Given the description of an element on the screen output the (x, y) to click on. 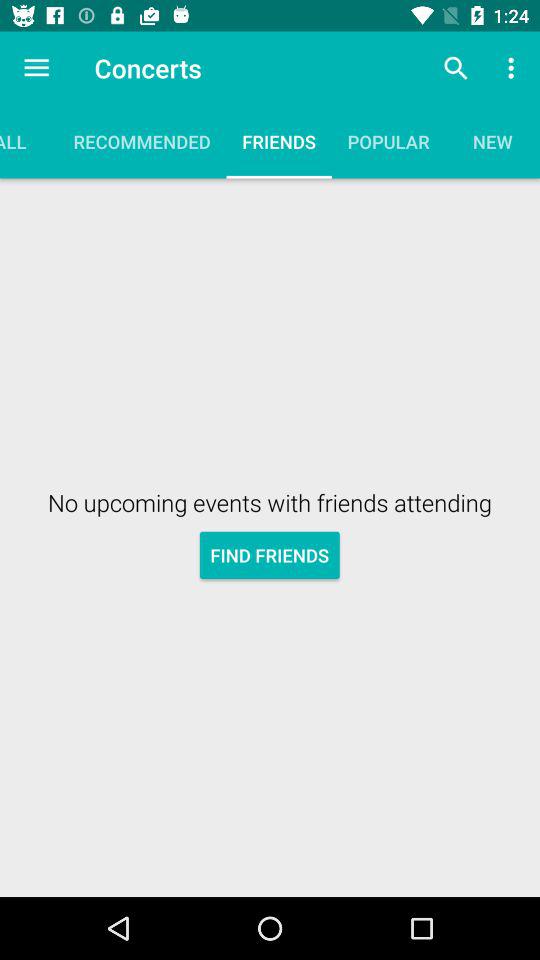
tap the item above all item (36, 68)
